Given the description of an element on the screen output the (x, y) to click on. 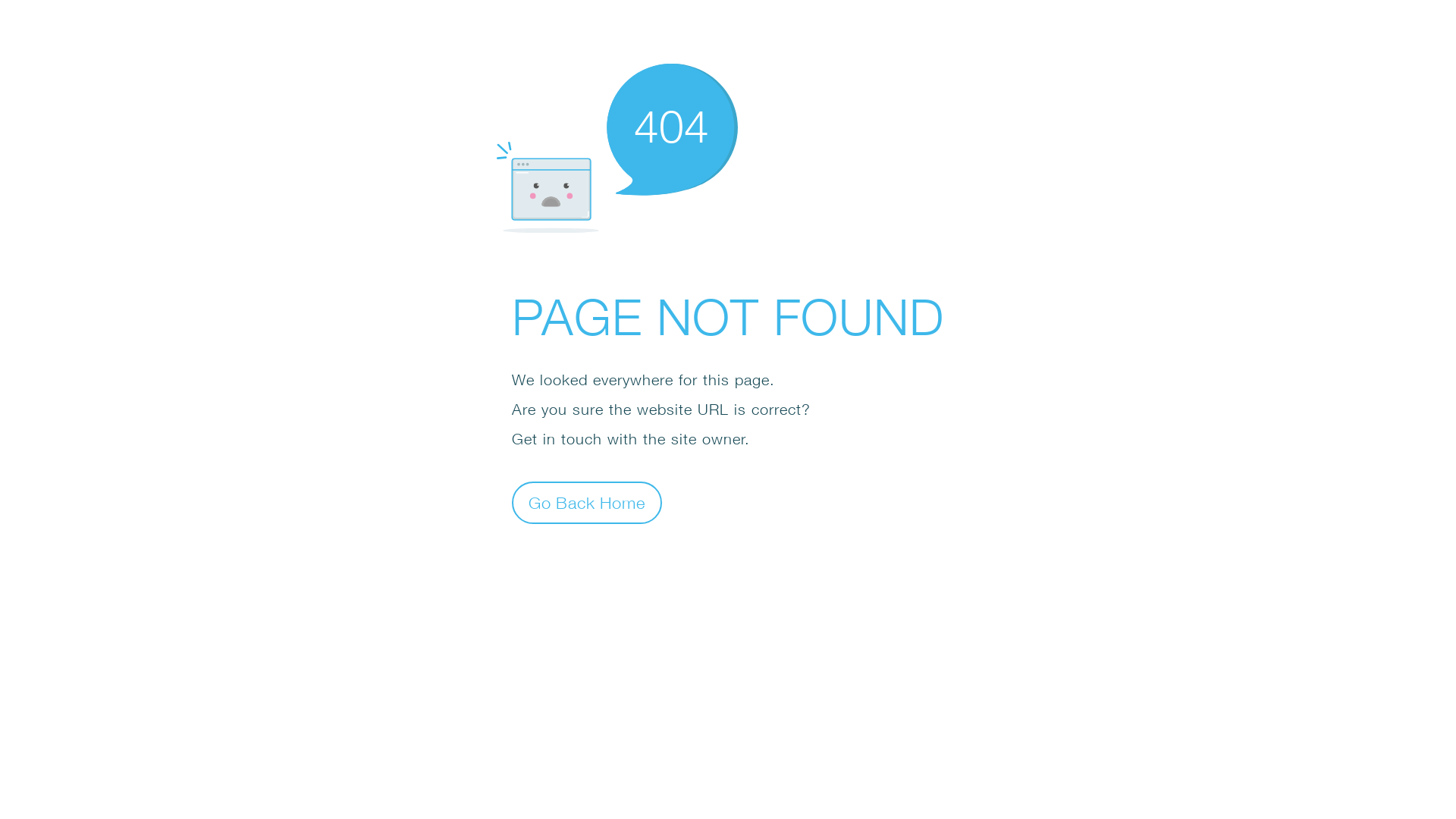
Go Back Home Element type: text (586, 502)
